Given the description of an element on the screen output the (x, y) to click on. 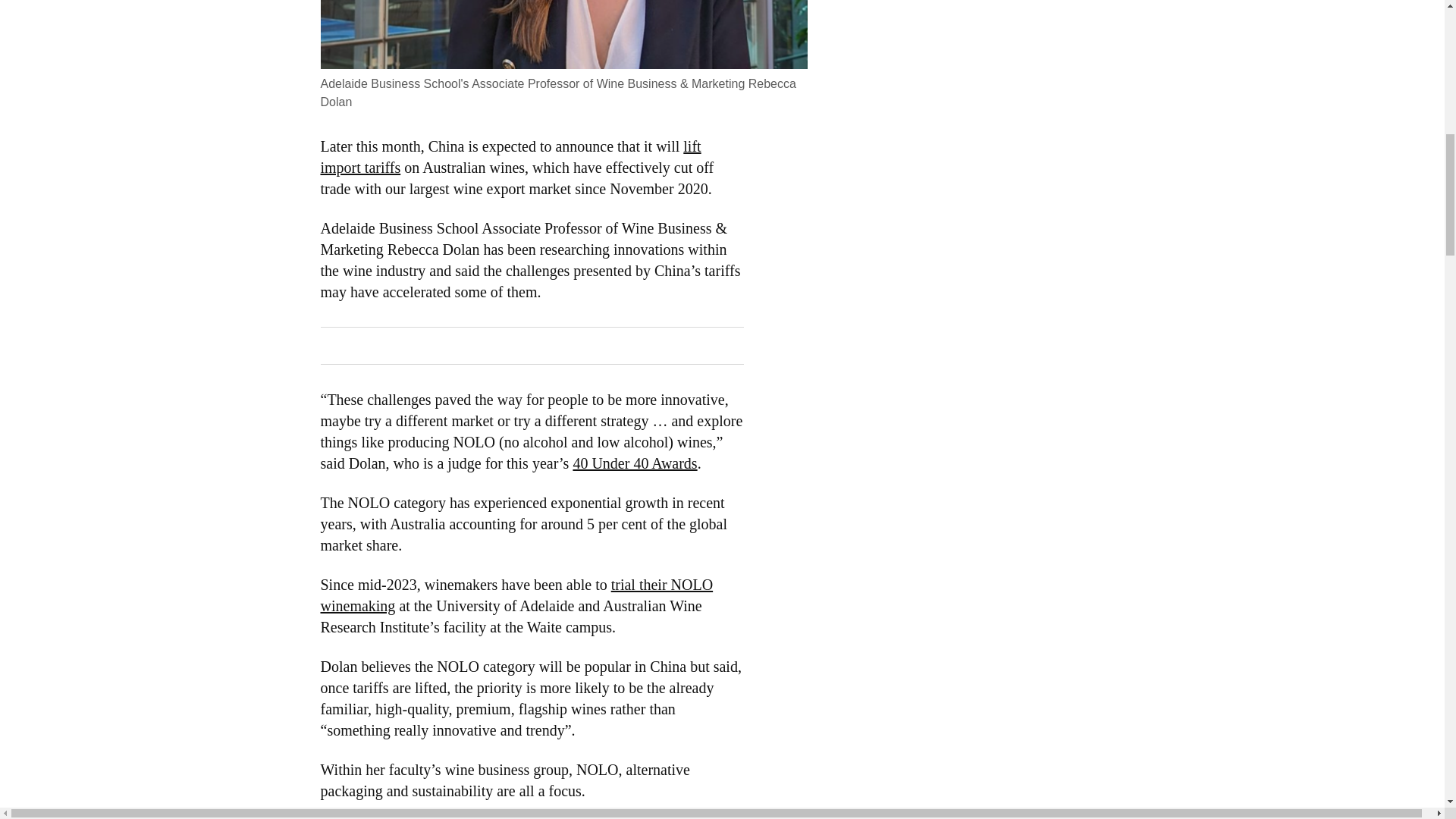
trial their NOLO winemaking (516, 595)
40 Under 40 Awards (634, 463)
lift import tariffs (510, 157)
